Given the description of an element on the screen output the (x, y) to click on. 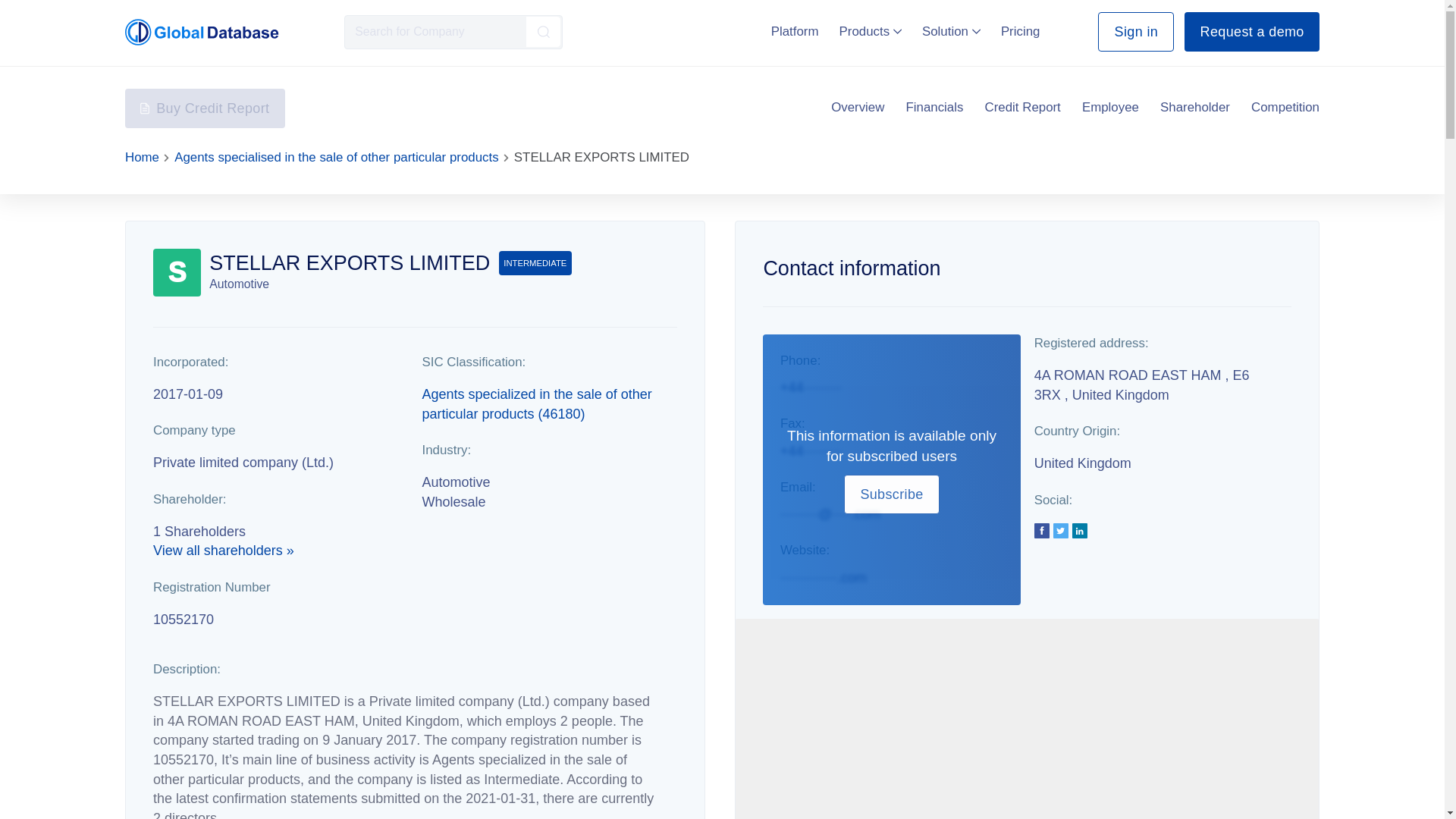
Request a demo (1252, 31)
Shareholder (1195, 107)
Pricing (1021, 31)
Credit Report (1023, 107)
Employee (1109, 107)
Buy Credit Report (205, 107)
Financials (934, 107)
Overview (857, 107)
Platform (794, 31)
Sign in (1135, 31)
